Given the description of an element on the screen output the (x, y) to click on. 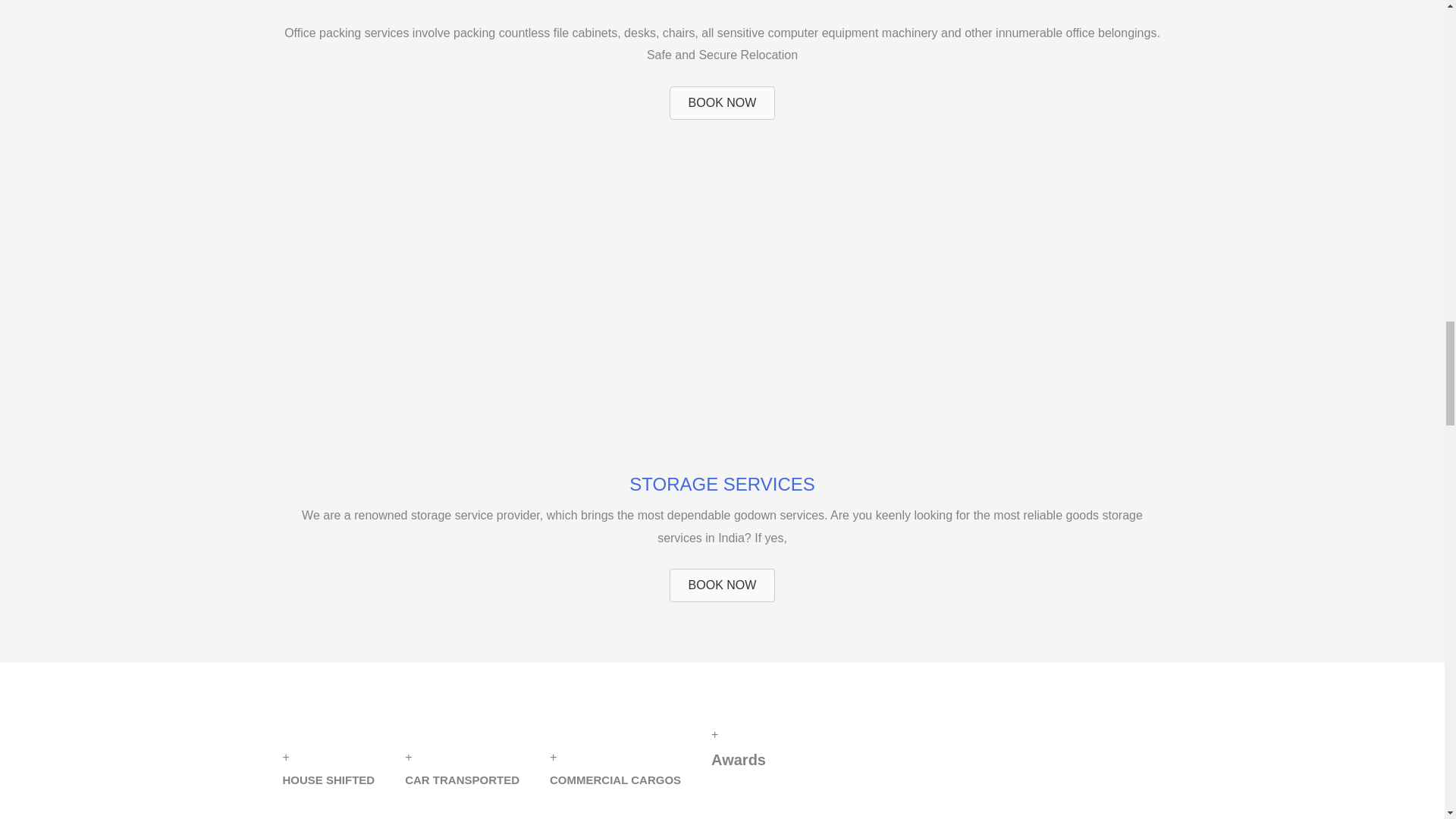
BOOK NOW (722, 102)
BOOK NOW (722, 584)
STORAGE SERVICES (721, 484)
OFFICE MOVING SERVICES (722, 1)
